Given the description of an element on the screen output the (x, y) to click on. 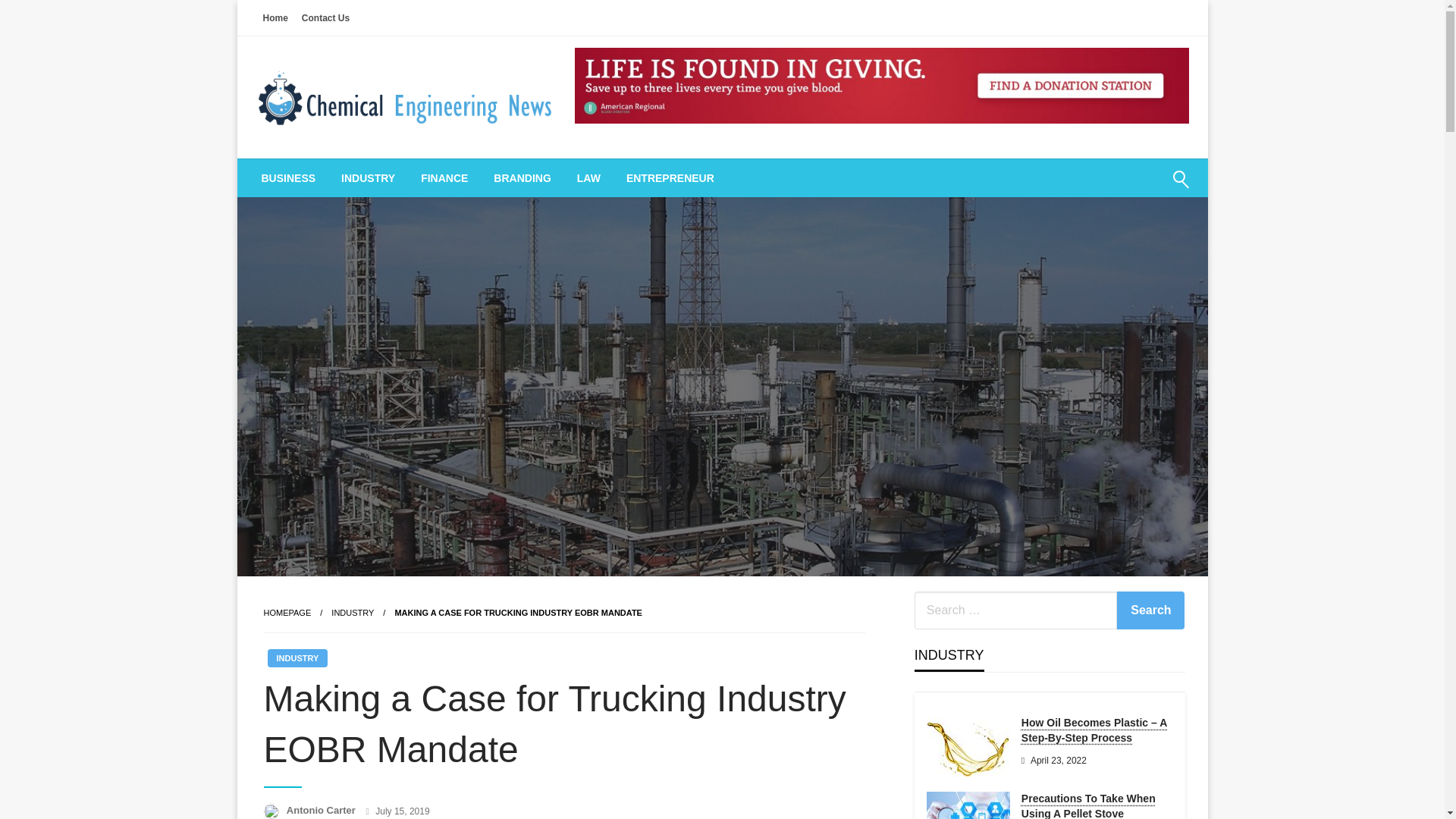
Search (1150, 610)
INDUSTRY (296, 658)
Search (1144, 188)
HOMEPAGE (287, 612)
Contact Us (325, 17)
INDUSTRY (368, 177)
Homepage (287, 612)
BRANDING (521, 177)
BUSINESS (288, 177)
ENTREPRENEUR (669, 177)
Search (1150, 610)
INDUSTRY (352, 612)
Home (275, 17)
Antonio Carter (322, 809)
Antonio Carter (322, 809)
